Given the description of an element on the screen output the (x, y) to click on. 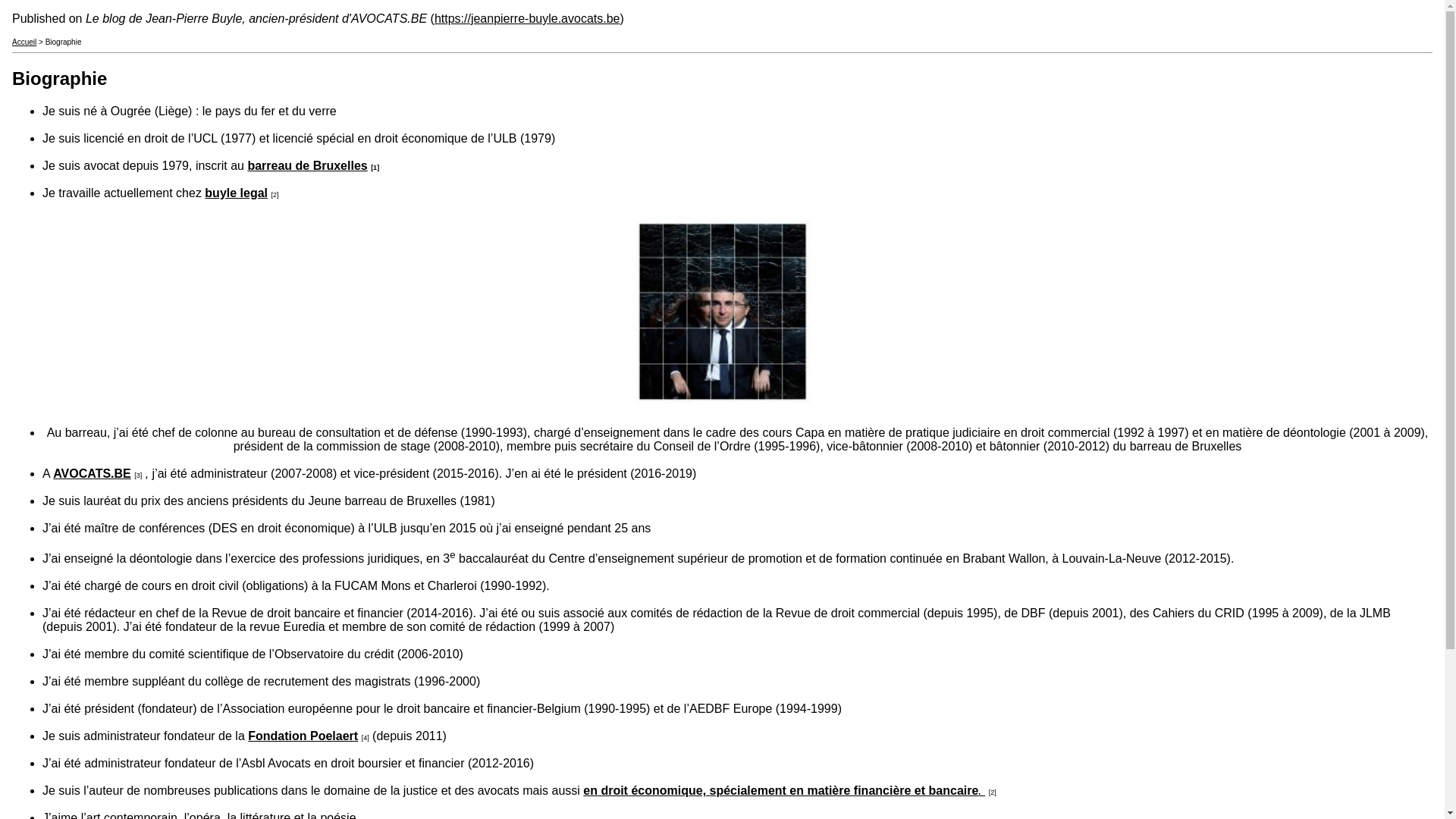
Accueil Element type: text (24, 41)
https://jeanpierre-buyle.avocats.be Element type: text (527, 18)
barreau de Bruxelles Element type: text (307, 165)
Fondation Poelaert Element type: text (302, 735)
buyle legal Element type: text (235, 192)
AVOCATS.BE Element type: text (92, 473)
